Given the description of an element on the screen output the (x, y) to click on. 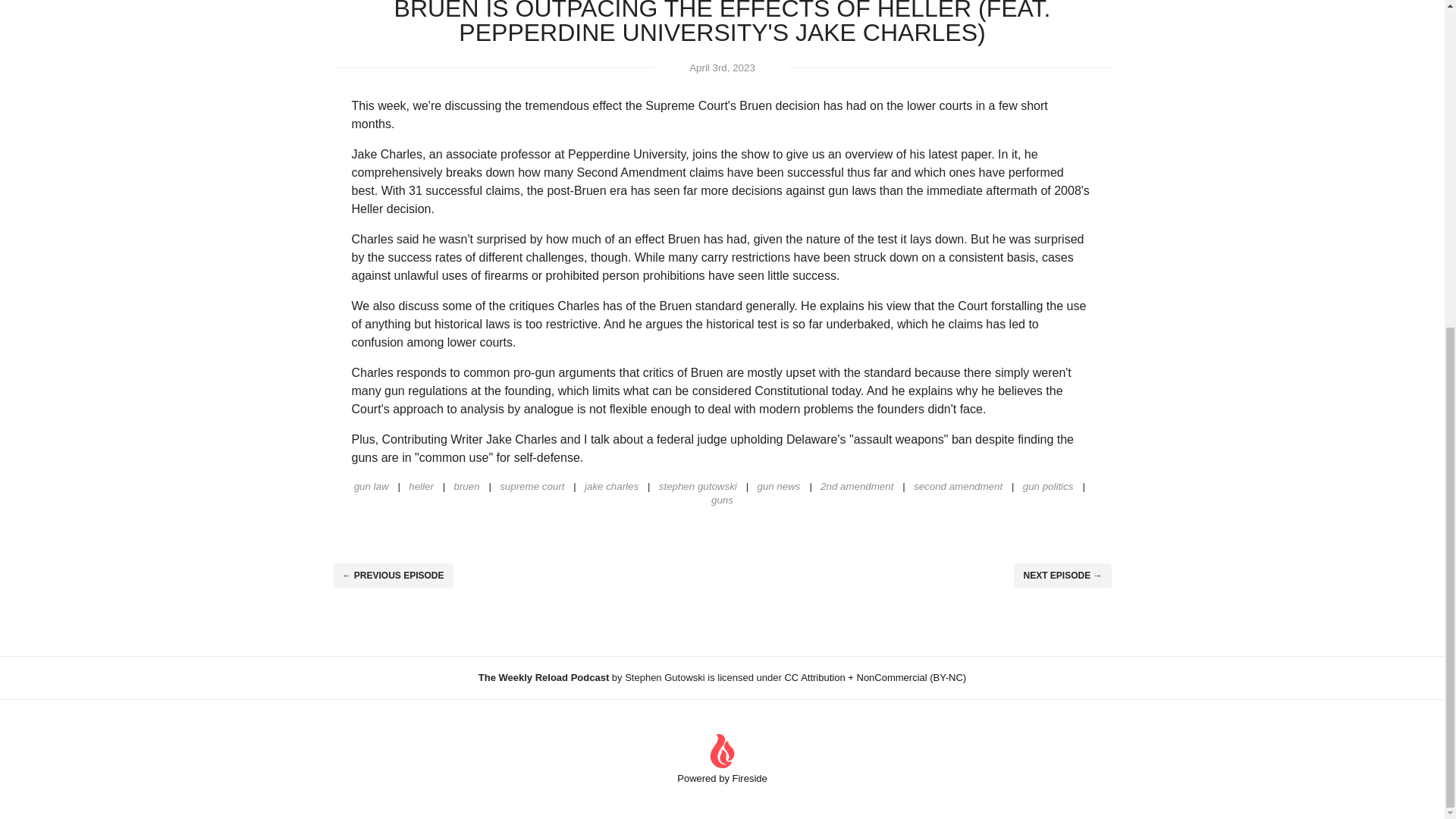
supreme court (526, 486)
gun law (370, 486)
Powered by Fireside (722, 758)
gun news (772, 486)
2nd amendment (851, 486)
jake charles (606, 486)
stephen gutowski (691, 486)
heller (415, 486)
bruen (461, 486)
